Given the description of an element on the screen output the (x, y) to click on. 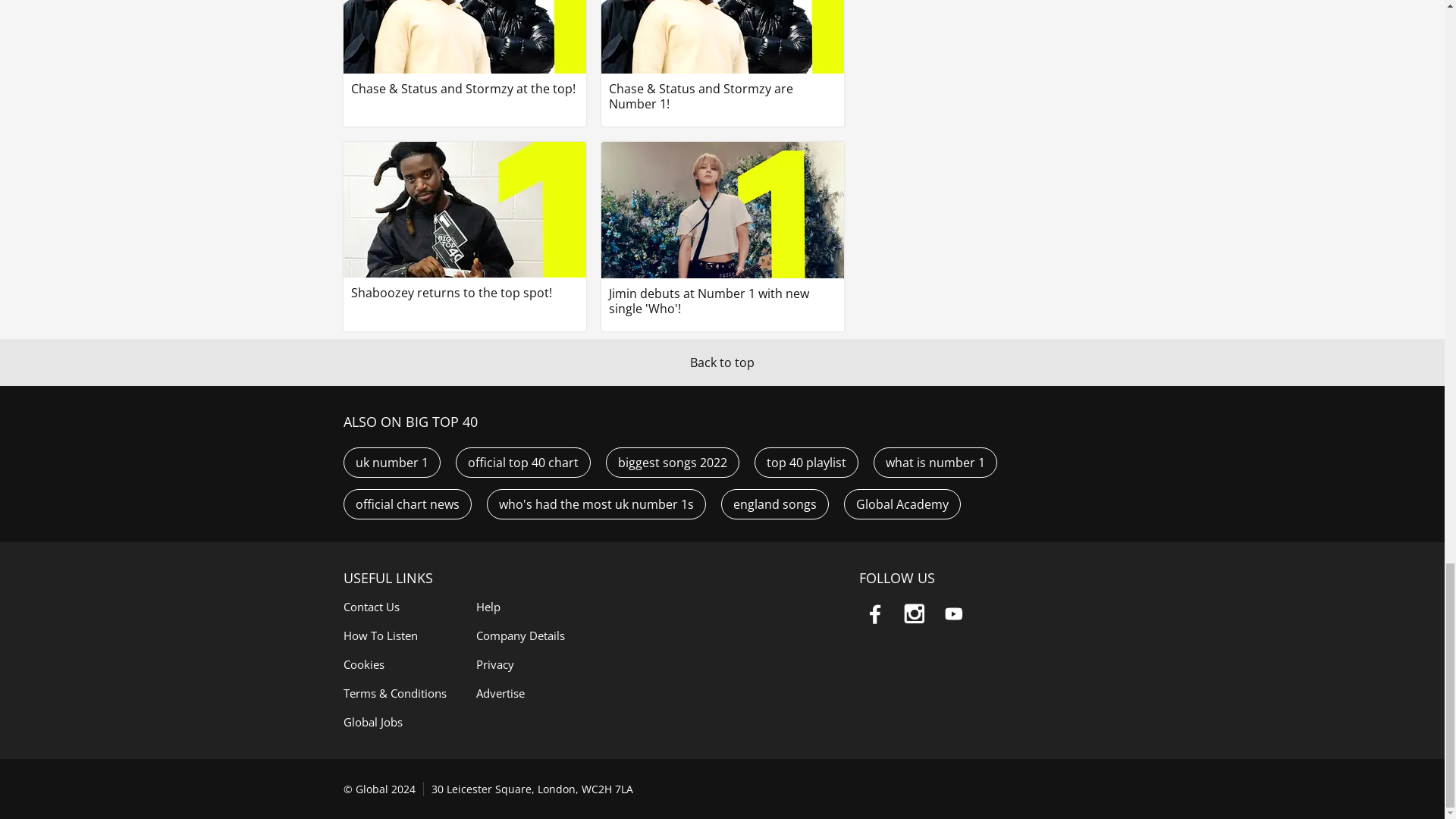
Follow the Official Big Top 40 from Global on Instagram (914, 613)
Jimin debuts at Number 1 with new single 'Who'! (721, 228)
Follow the Official Big Top 40 from Global on Facebook (874, 613)
biggest songs 2022 (671, 462)
Back to top (722, 362)
top 40 playlist (805, 462)
Back to top (722, 362)
Shaboozey returns to the top spot! (463, 220)
Follow the Official Big Top 40 from Global on YouTube (953, 613)
uk number 1 (390, 462)
